Given the description of an element on the screen output the (x, y) to click on. 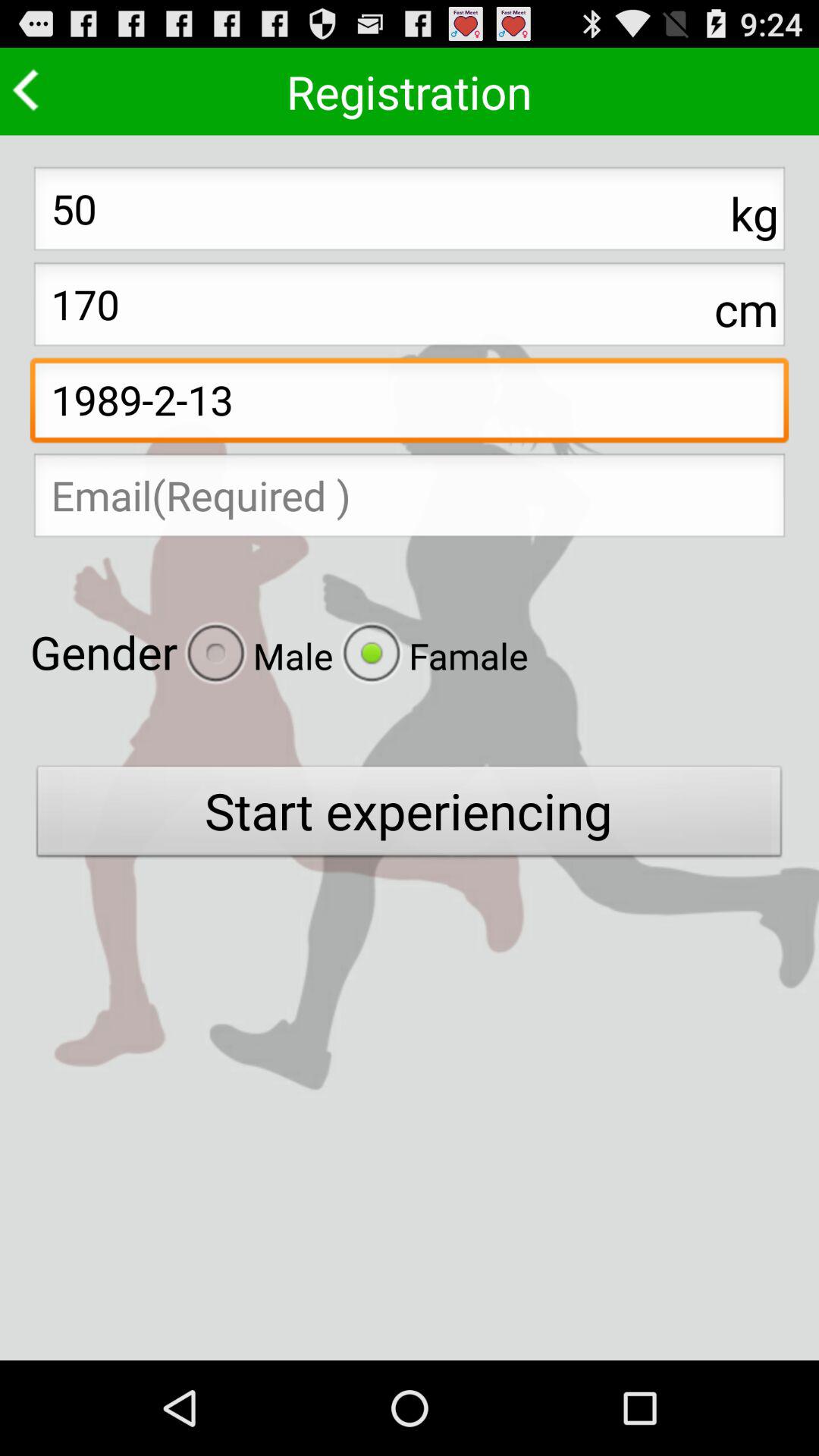
enter your email (409, 499)
